Given the description of an element on the screen output the (x, y) to click on. 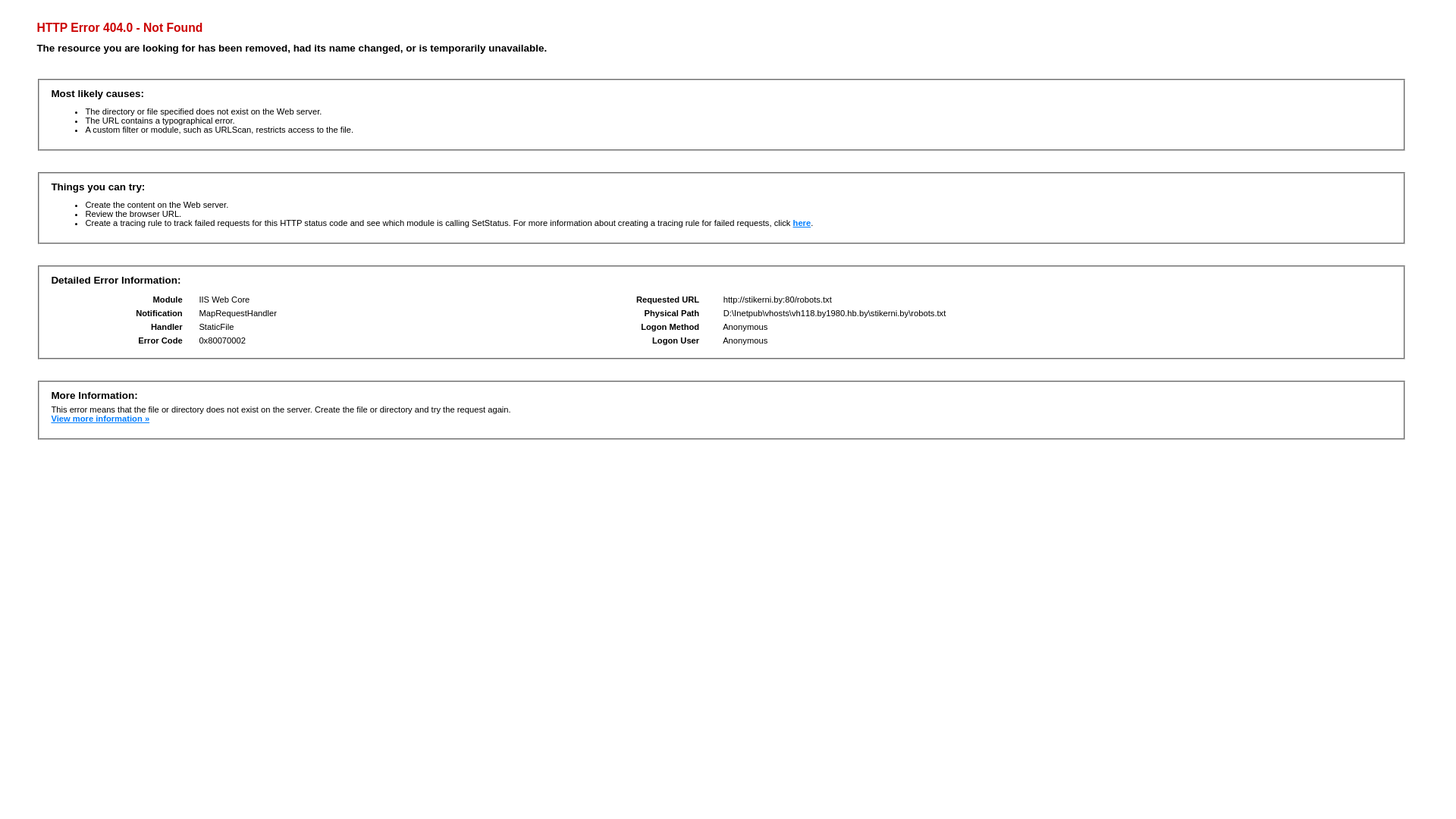
here Element type: text (802, 222)
